Given the description of an element on the screen output the (x, y) to click on. 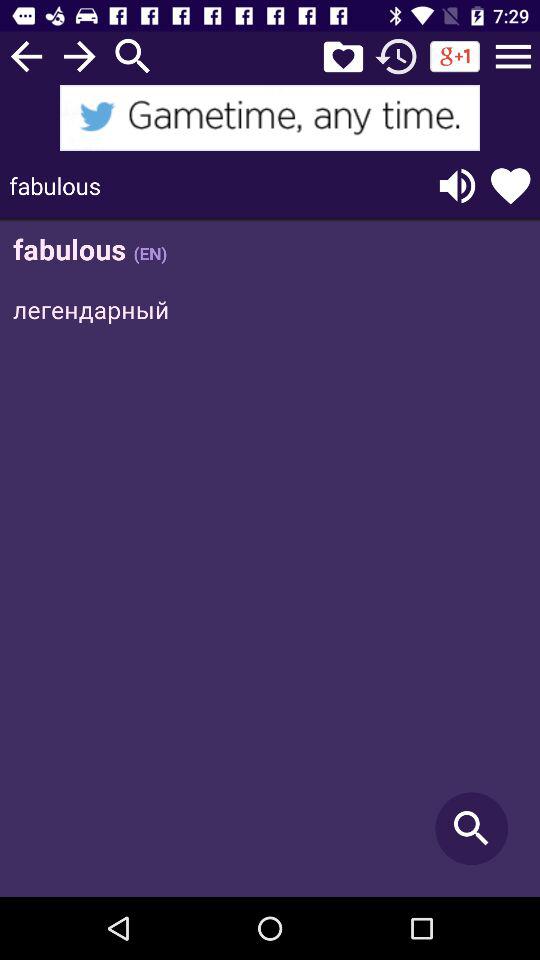
fabulous search (270, 559)
